Given the description of an element on the screen output the (x, y) to click on. 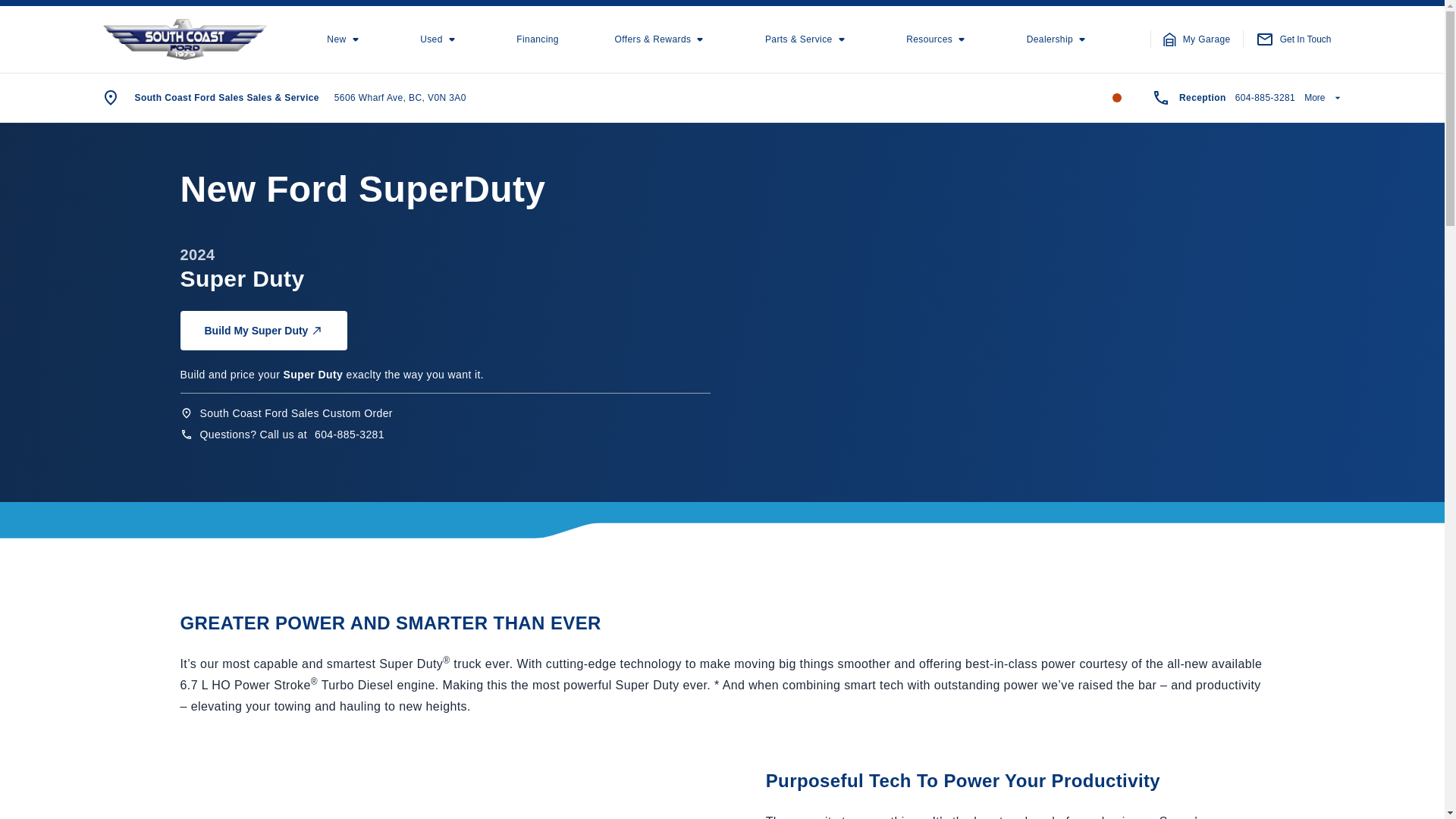
Used (440, 39)
Used (440, 39)
Resources (938, 39)
Financing (537, 39)
New (345, 39)
New (345, 39)
Financing (537, 39)
